Given the description of an element on the screen output the (x, y) to click on. 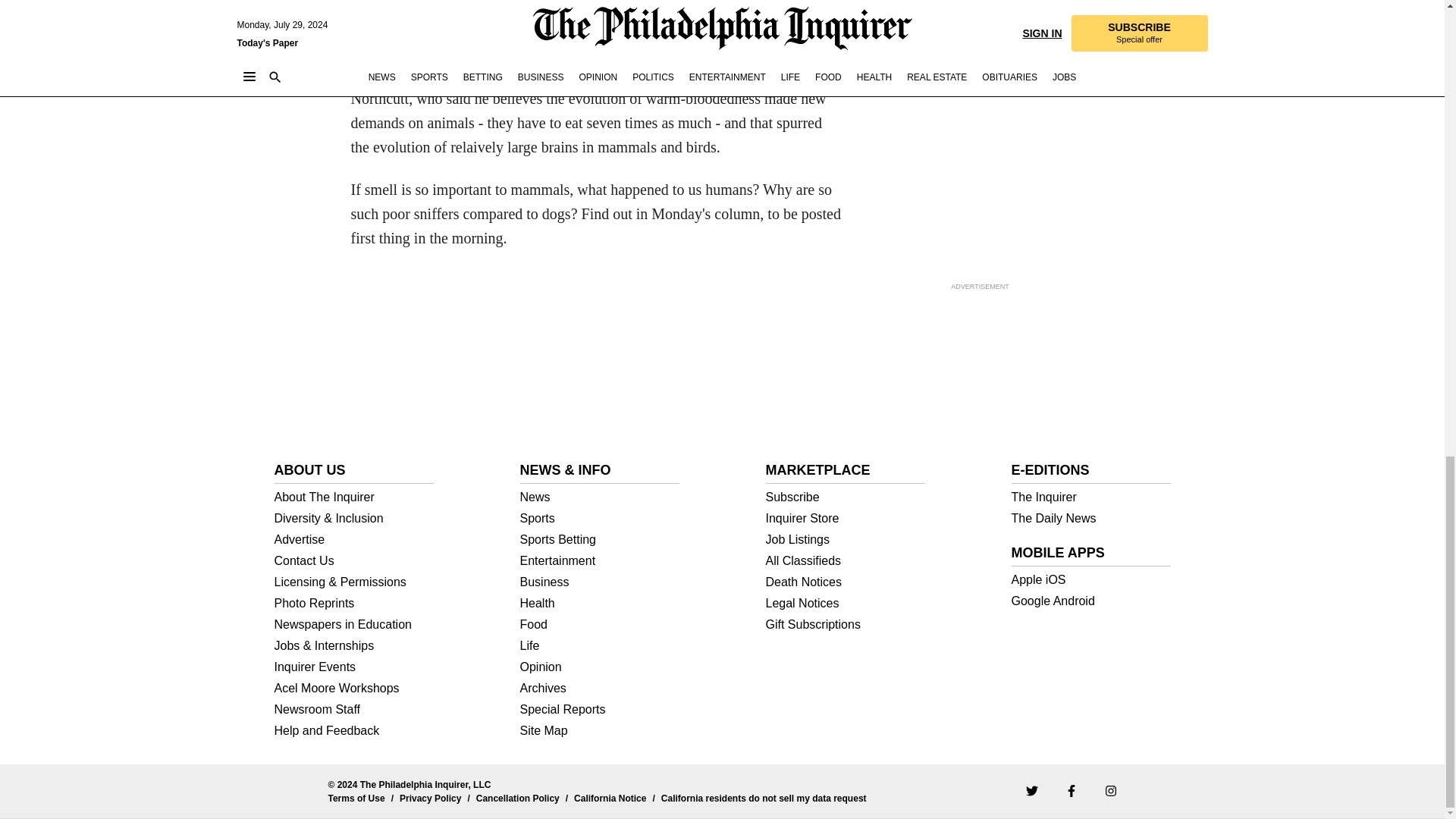
Facebook (1070, 790)
Twitter (1030, 790)
About The Inquirer (354, 497)
Contact Us (354, 561)
Advertise (354, 539)
Instagram (1109, 790)
